Given the description of an element on the screen output the (x, y) to click on. 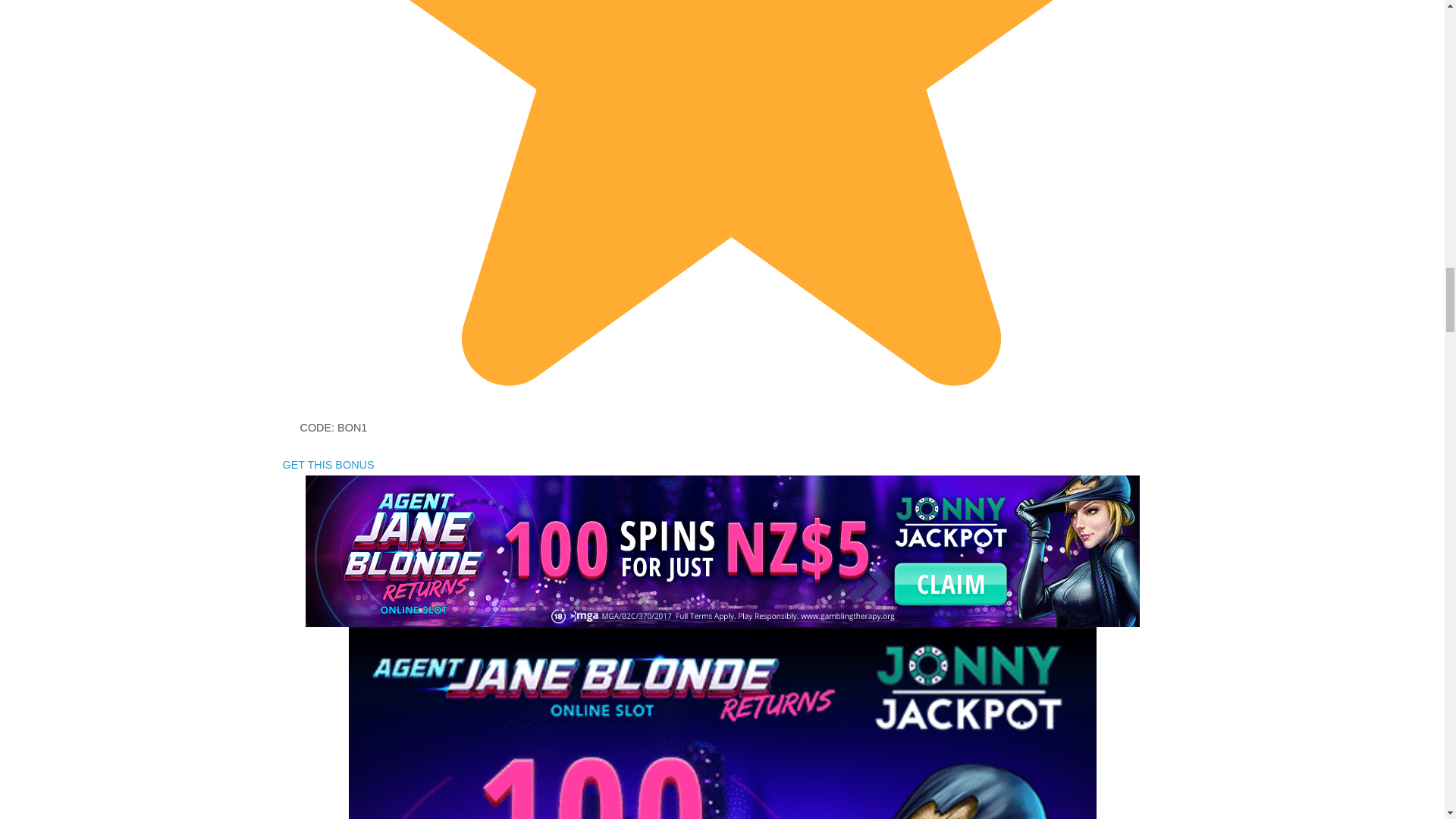
GET THIS BONUS (328, 464)
